Given the description of an element on the screen output the (x, y) to click on. 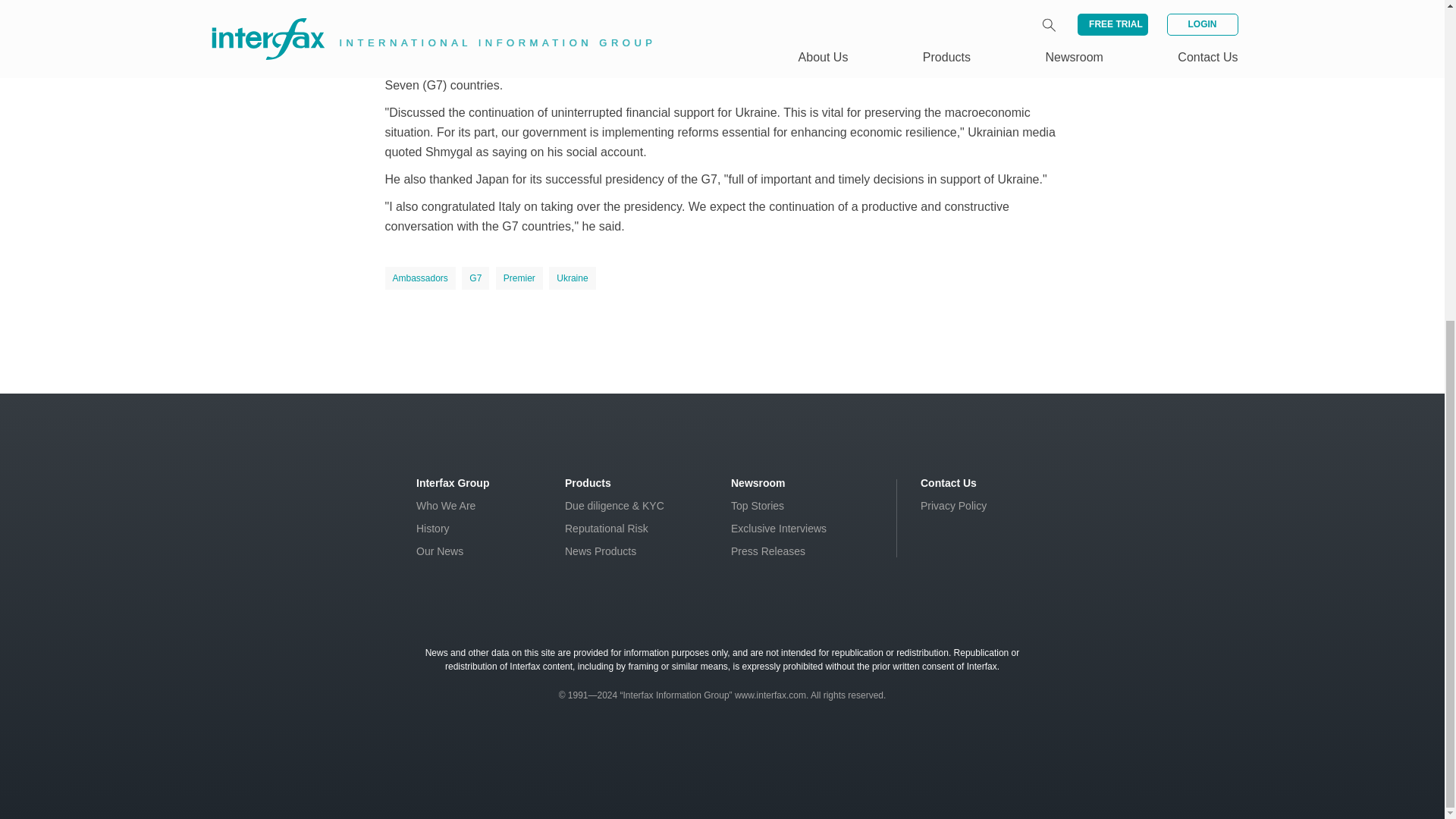
G7 (475, 277)
Ukraine (571, 277)
Premier (519, 277)
Ambassadors (420, 277)
